Given the description of an element on the screen output the (x, y) to click on. 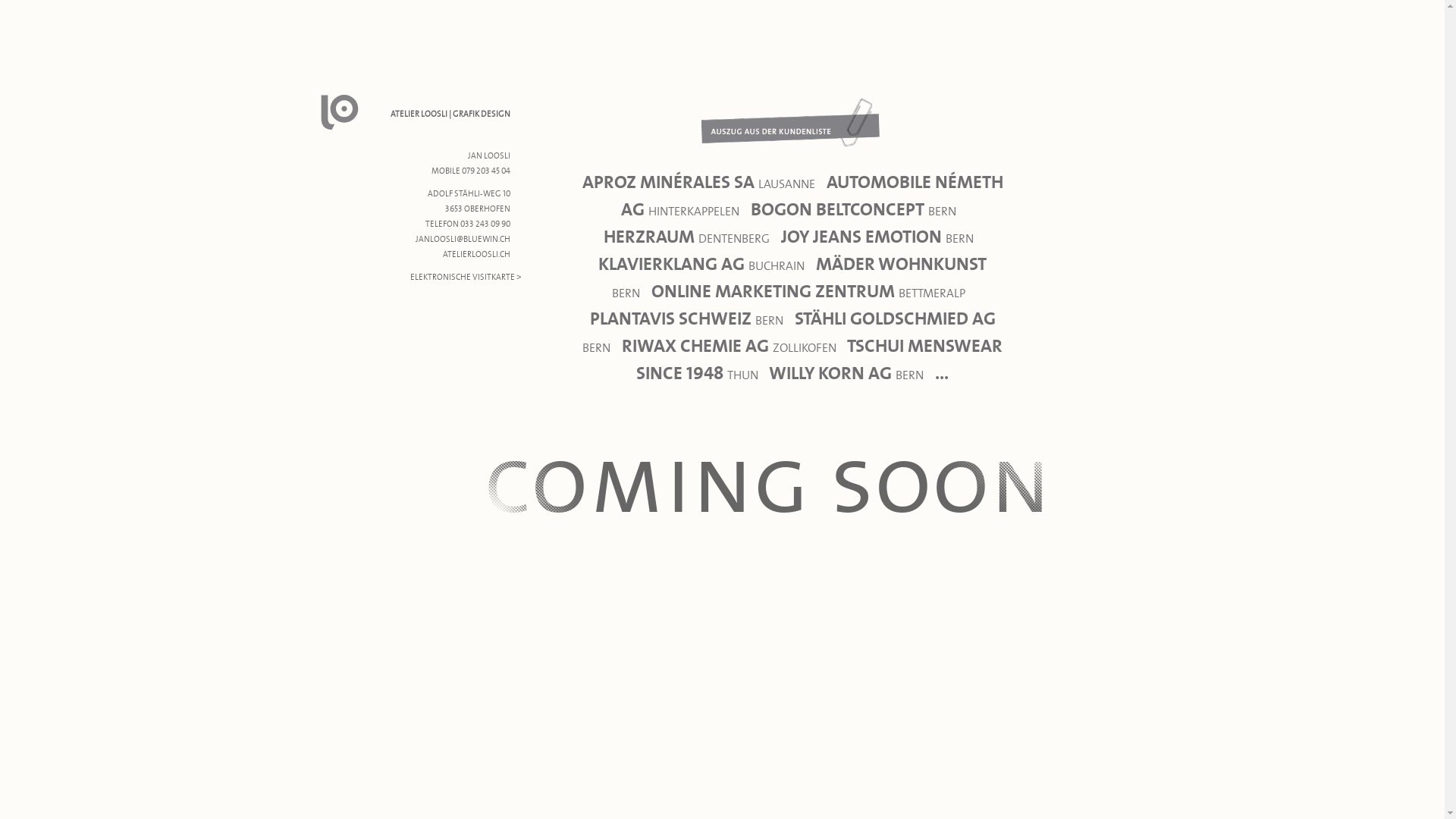
ELEKTRONISCHE VISITKARTE > Element type: text (465, 276)
